Given the description of an element on the screen output the (x, y) to click on. 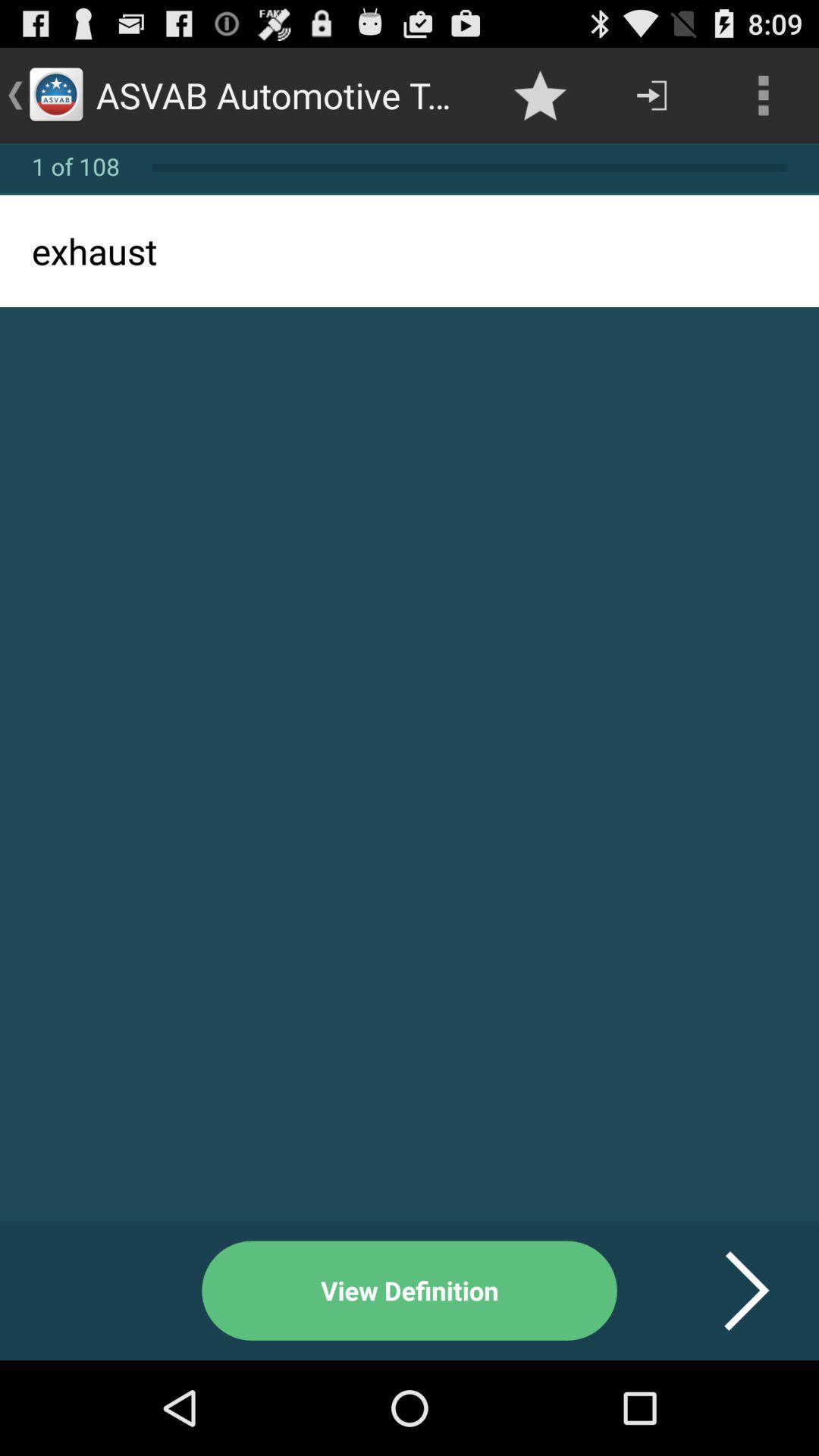
select icon next to asvab automotive terminologies (540, 95)
